Given the description of an element on the screen output the (x, y) to click on. 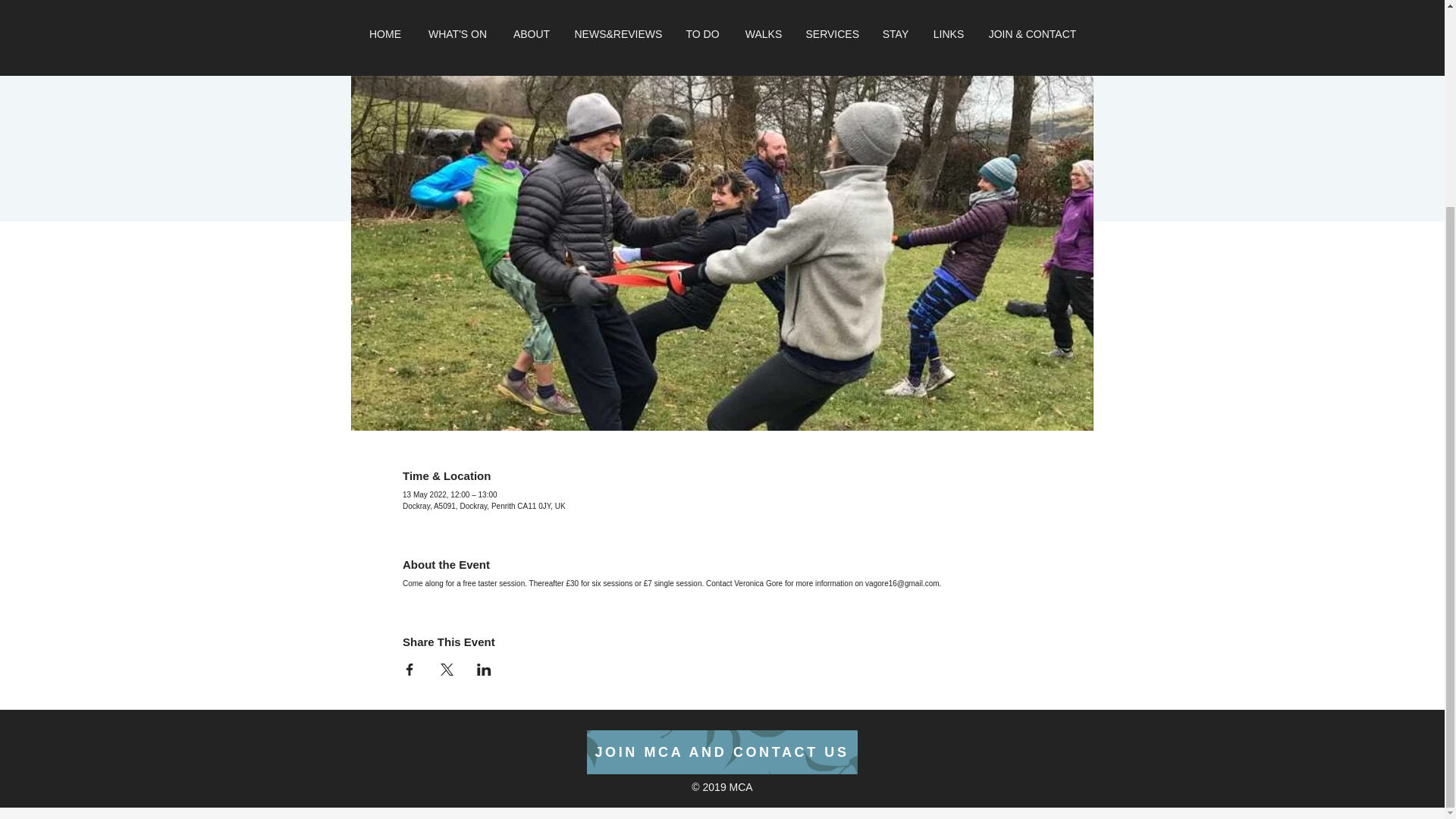
JOIN MCA AND CONTACT US (721, 751)
Facebook Like (708, 770)
